Given the description of an element on the screen output the (x, y) to click on. 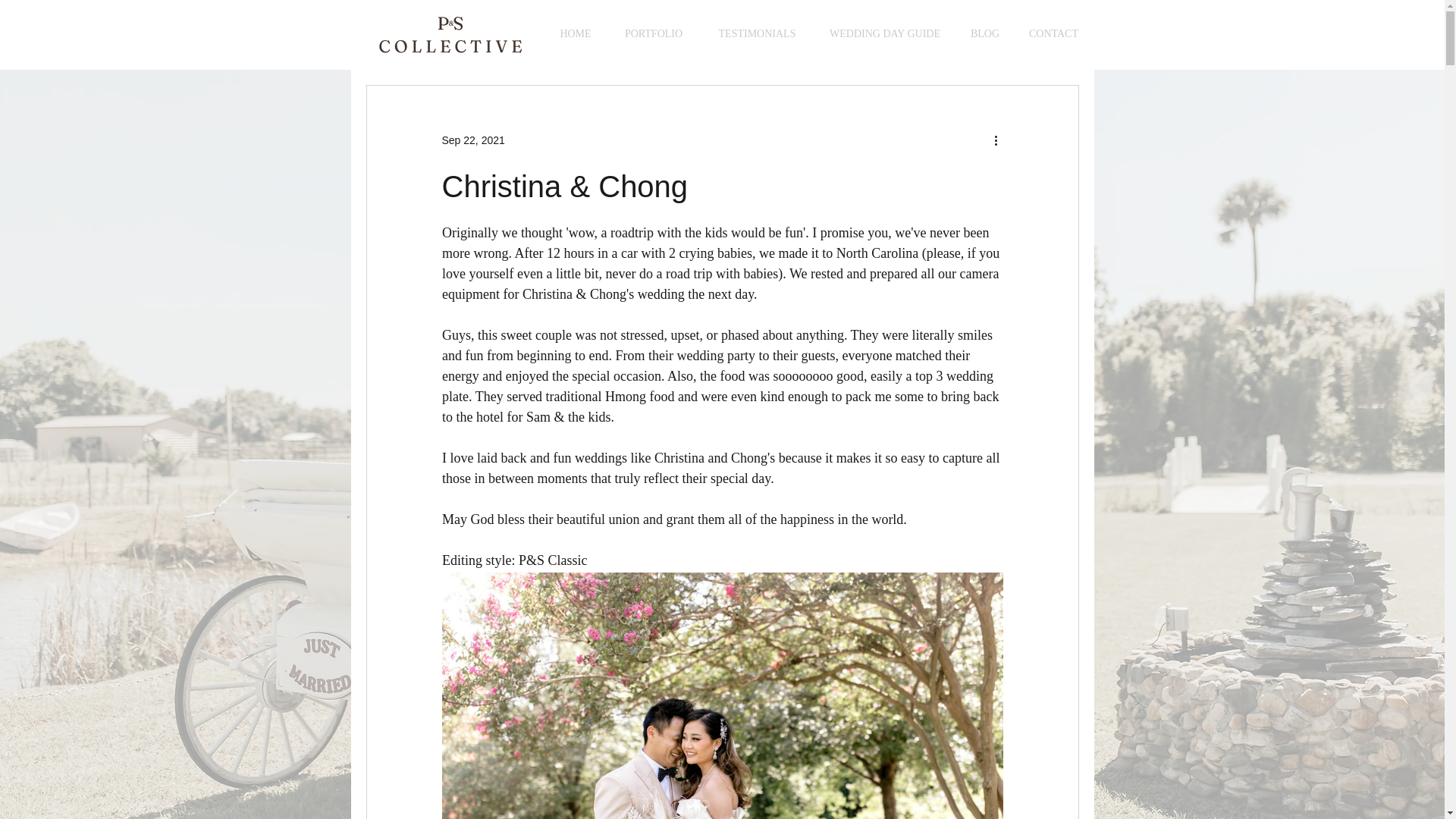
TESTIMONIALS (756, 33)
PORTFOLIO (654, 33)
WEDDING DAY GUIDE (884, 33)
HOME (574, 33)
Sep 22, 2021 (472, 139)
BLOG (984, 33)
CONTACT (1053, 33)
